Given the description of an element on the screen output the (x, y) to click on. 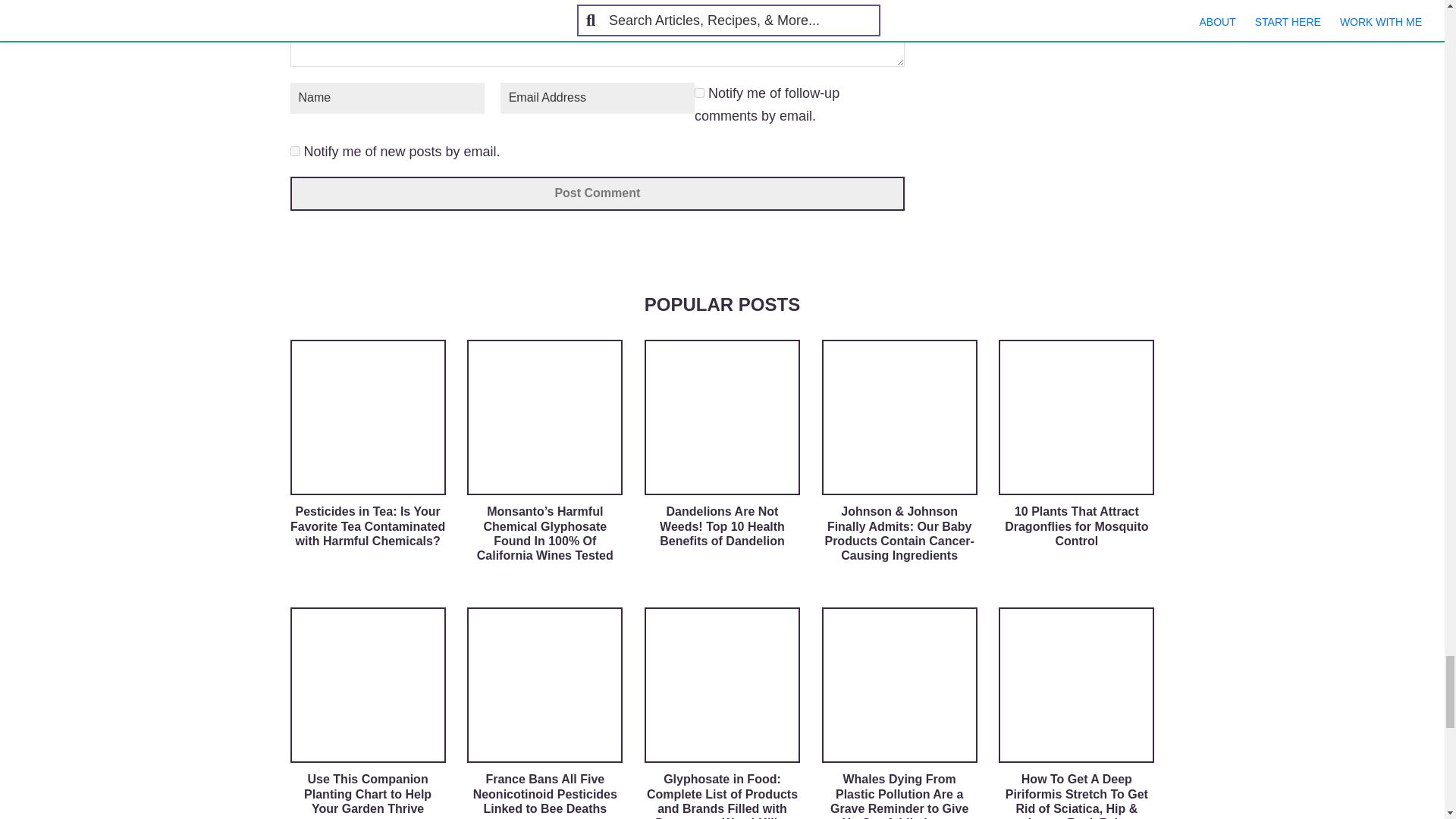
subscribe (294, 151)
Post Comment (596, 192)
subscribe (699, 92)
